Given the description of an element on the screen output the (x, y) to click on. 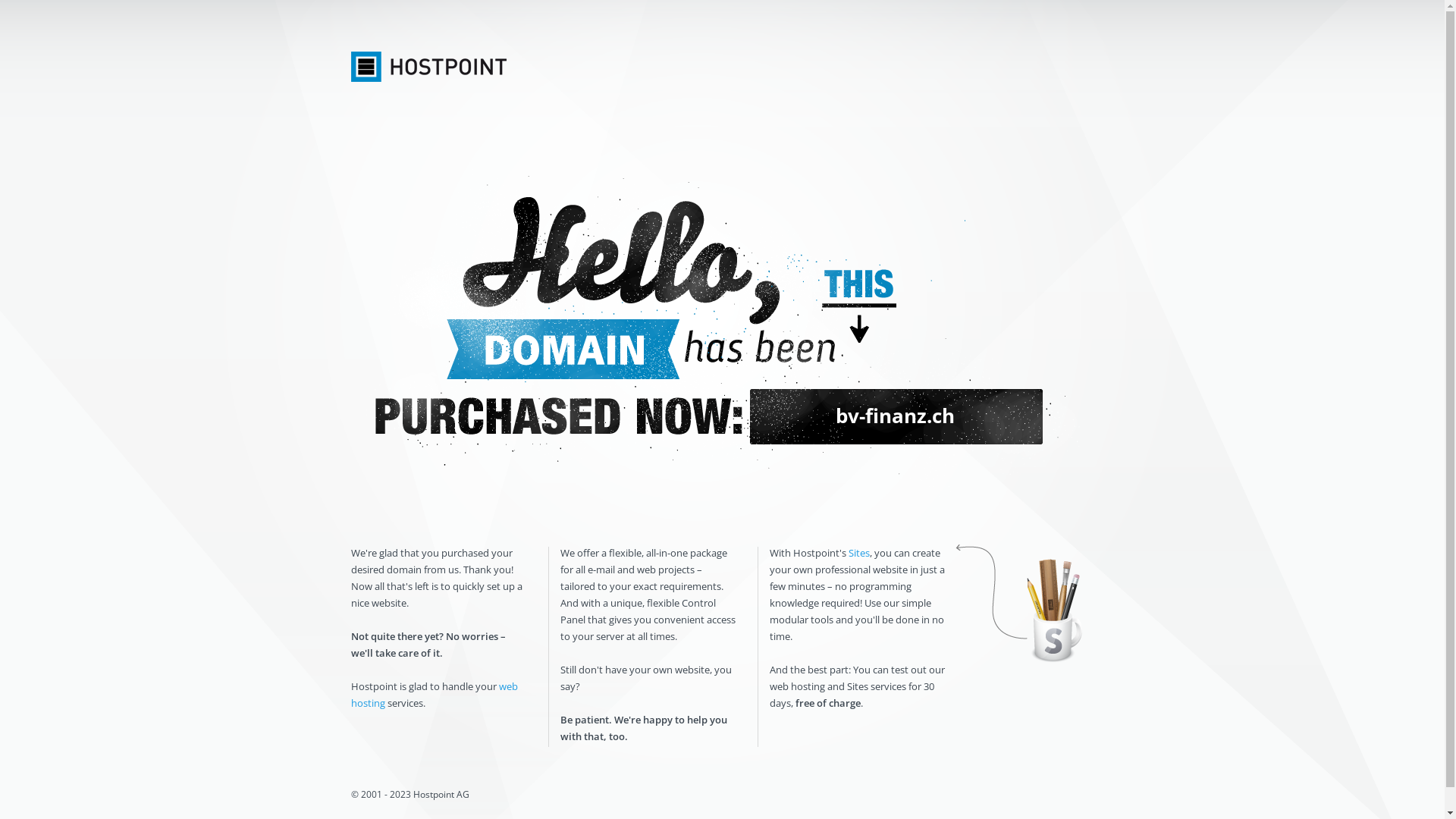
Sites Element type: text (858, 552)
web hosting Element type: text (433, 694)
